Given the description of an element on the screen output the (x, y) to click on. 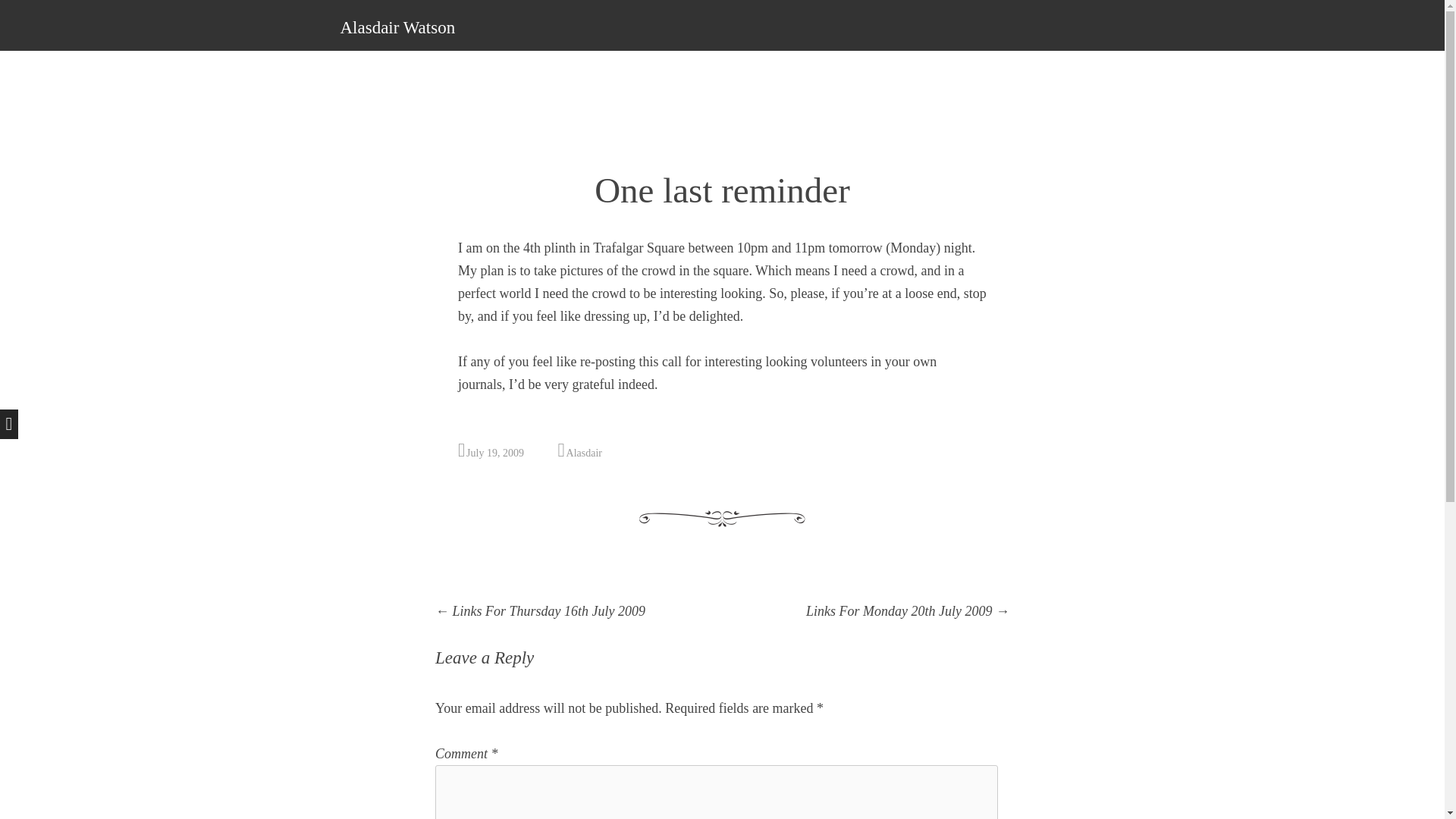
Alasdair Watson (396, 27)
Alasdair Watson (396, 27)
9:03 pm (494, 452)
Alasdair (584, 452)
July 19, 2009 (494, 452)
View all posts by Alasdair (584, 452)
